Given the description of an element on the screen output the (x, y) to click on. 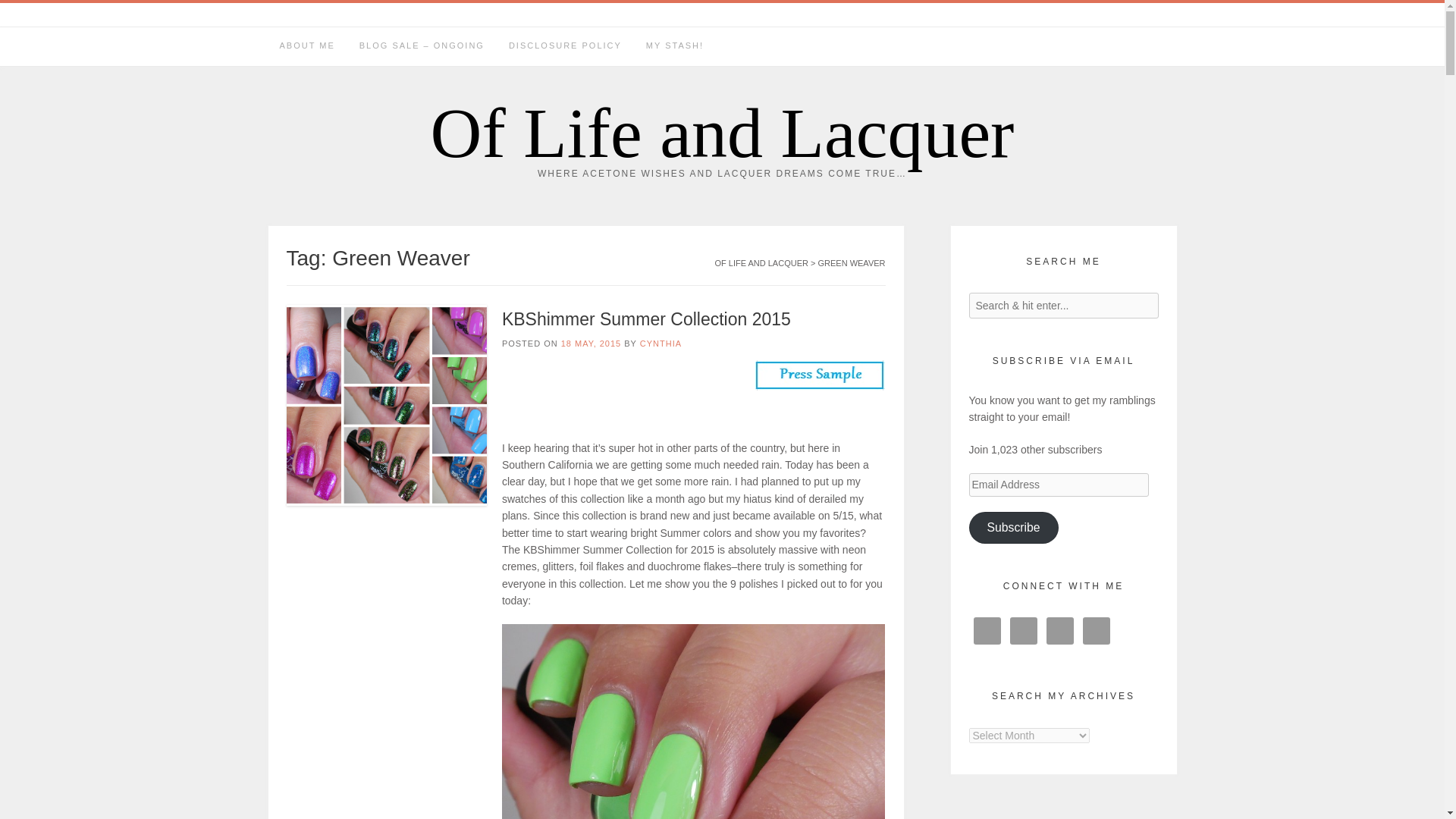
ABOUT ME (306, 46)
Go to Of Life and Lacquer. (761, 262)
KBShimmer Summer Collection 2015 (646, 319)
18 MAY, 2015 (590, 343)
CYNTHIA (660, 343)
OF LIFE AND LACQUER (761, 262)
DISCLOSURE POLICY (564, 46)
Of Life and Lacquer (722, 132)
MY STASH! (674, 46)
Of Life and Lacquer (722, 132)
